Given the description of an element on the screen output the (x, y) to click on. 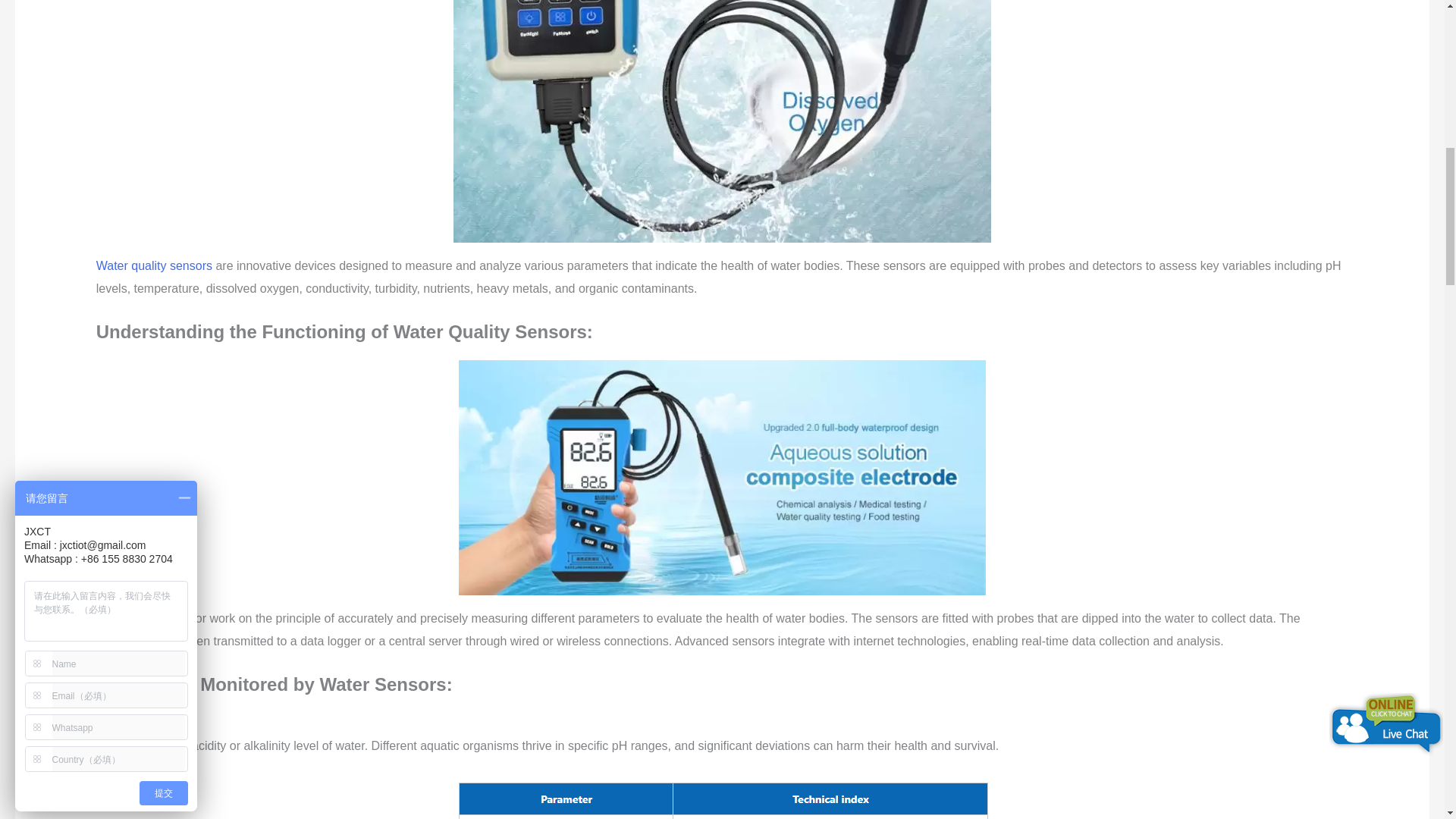
Water quality sensors (154, 265)
